Given the description of an element on the screen output the (x, y) to click on. 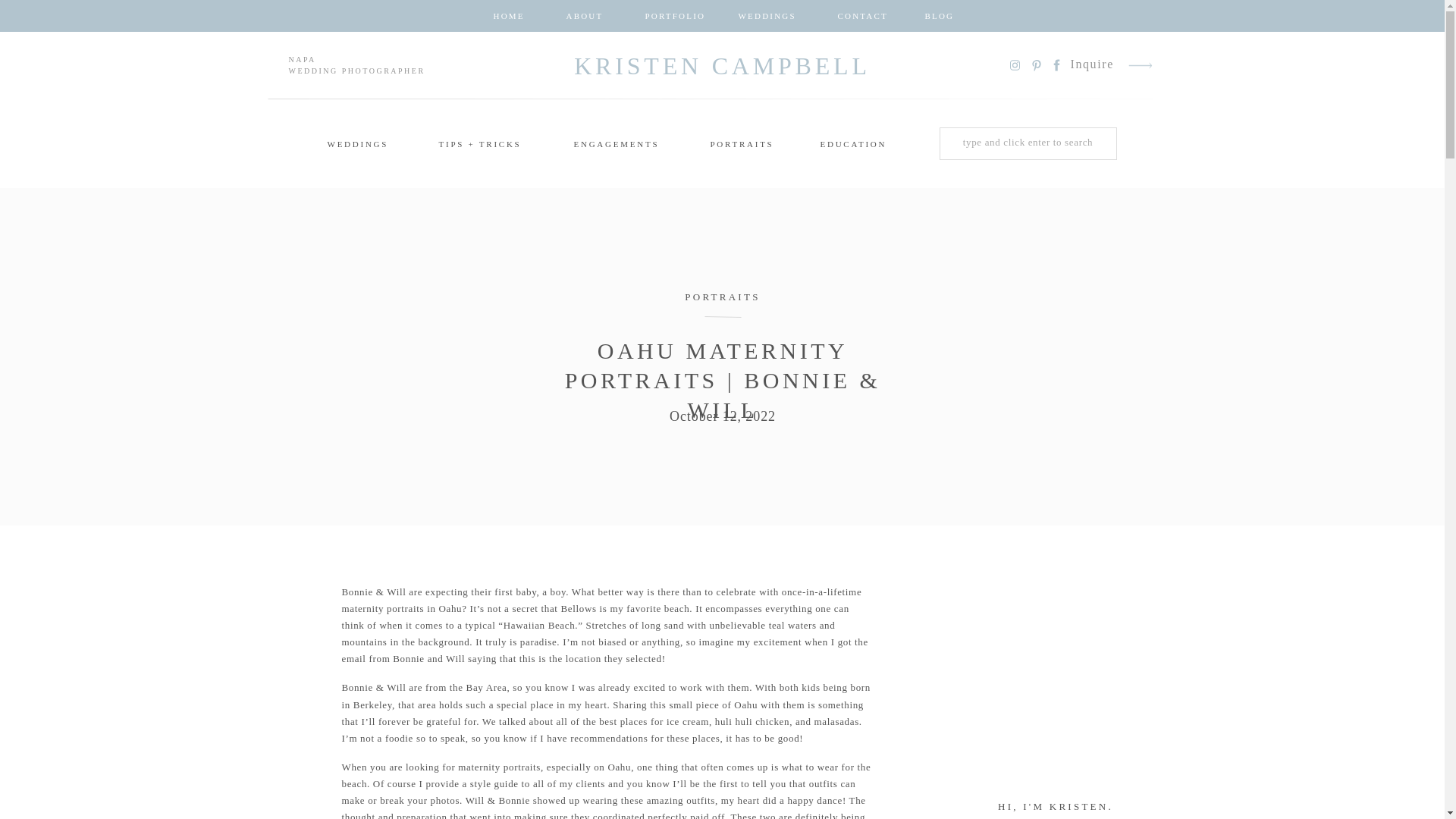
PORTRAITS (739, 145)
HOME (507, 15)
Inquire  (1092, 65)
WEDDINGS (357, 145)
arrow (1140, 65)
CONTACT (858, 15)
PORTRAITS (722, 296)
arrow (1140, 65)
ABOUT (582, 15)
PORTFOLIO (669, 15)
ENGAGEMENTS (615, 145)
WEDDINGS (765, 15)
BLOG (938, 15)
KRISTEN CAMPBELL PHOTOGRAPHY (722, 65)
EDUCATION (849, 145)
